Given the description of an element on the screen output the (x, y) to click on. 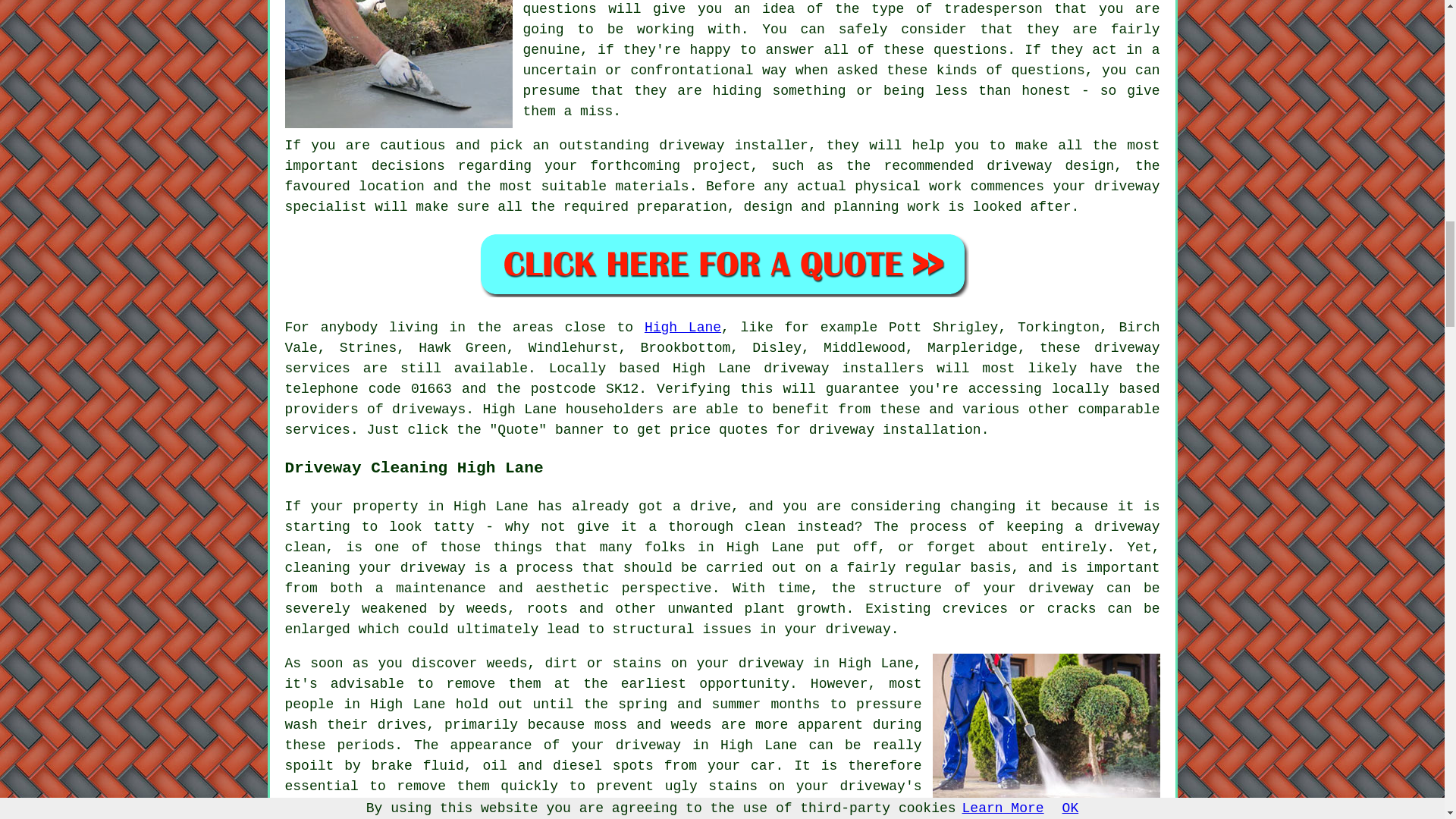
Driveway Cleaning High Lane (1046, 728)
